Given the description of an element on the screen output the (x, y) to click on. 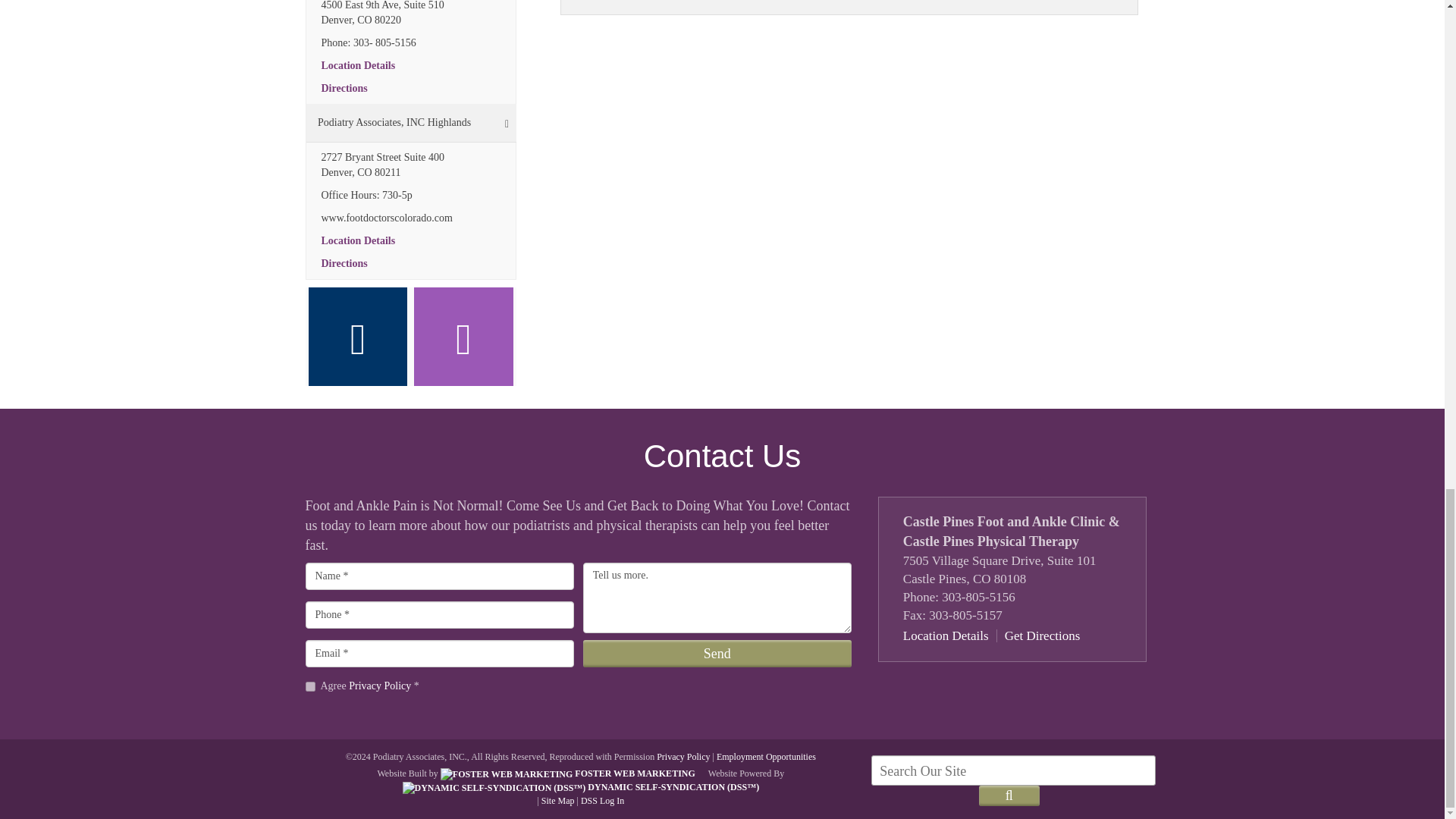
1 (309, 686)
Search (1008, 795)
